Given the description of an element on the screen output the (x, y) to click on. 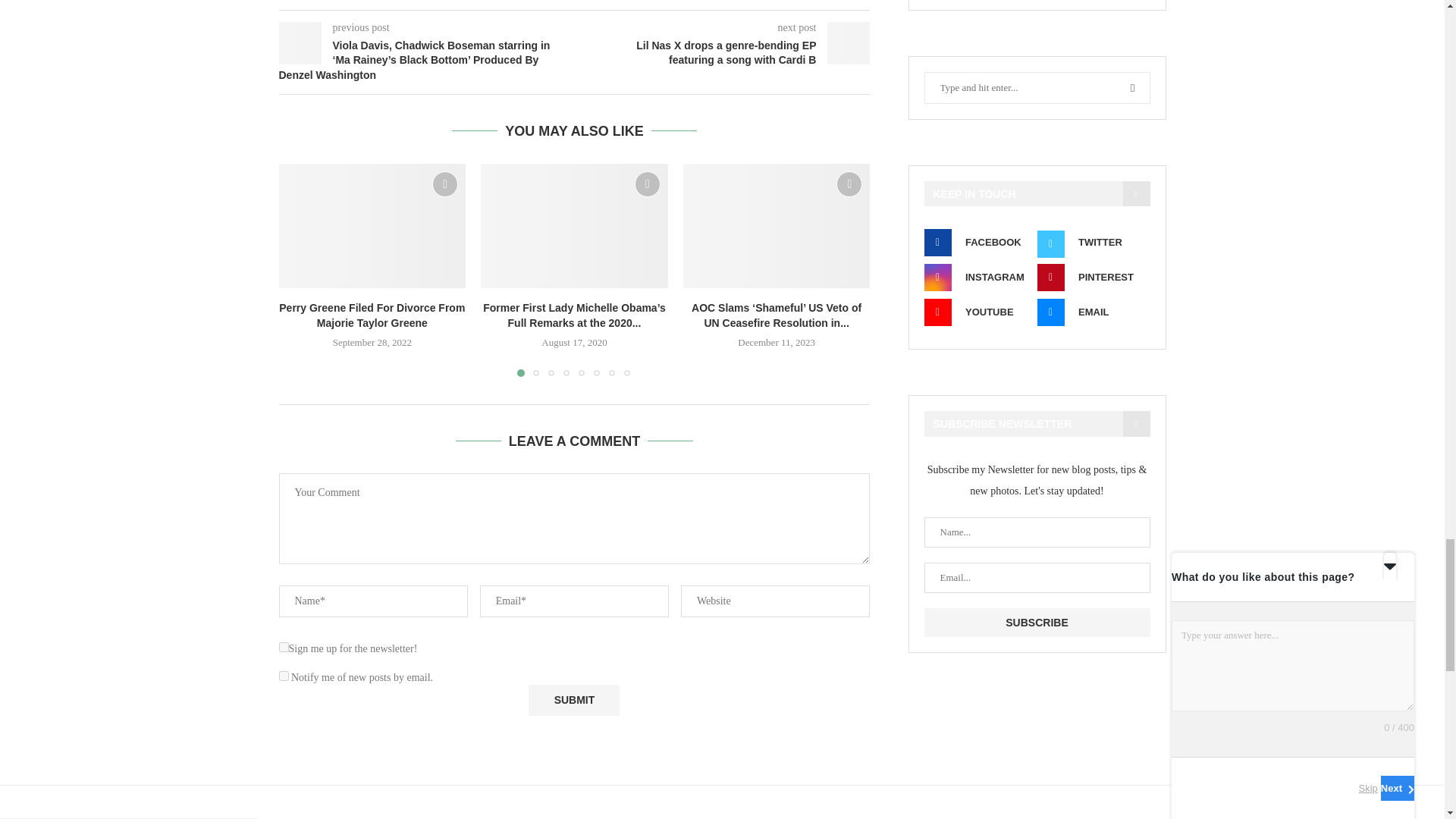
Submit (574, 699)
Subscribe (1036, 622)
1 (283, 646)
subscribe (283, 675)
